Given the description of an element on the screen output the (x, y) to click on. 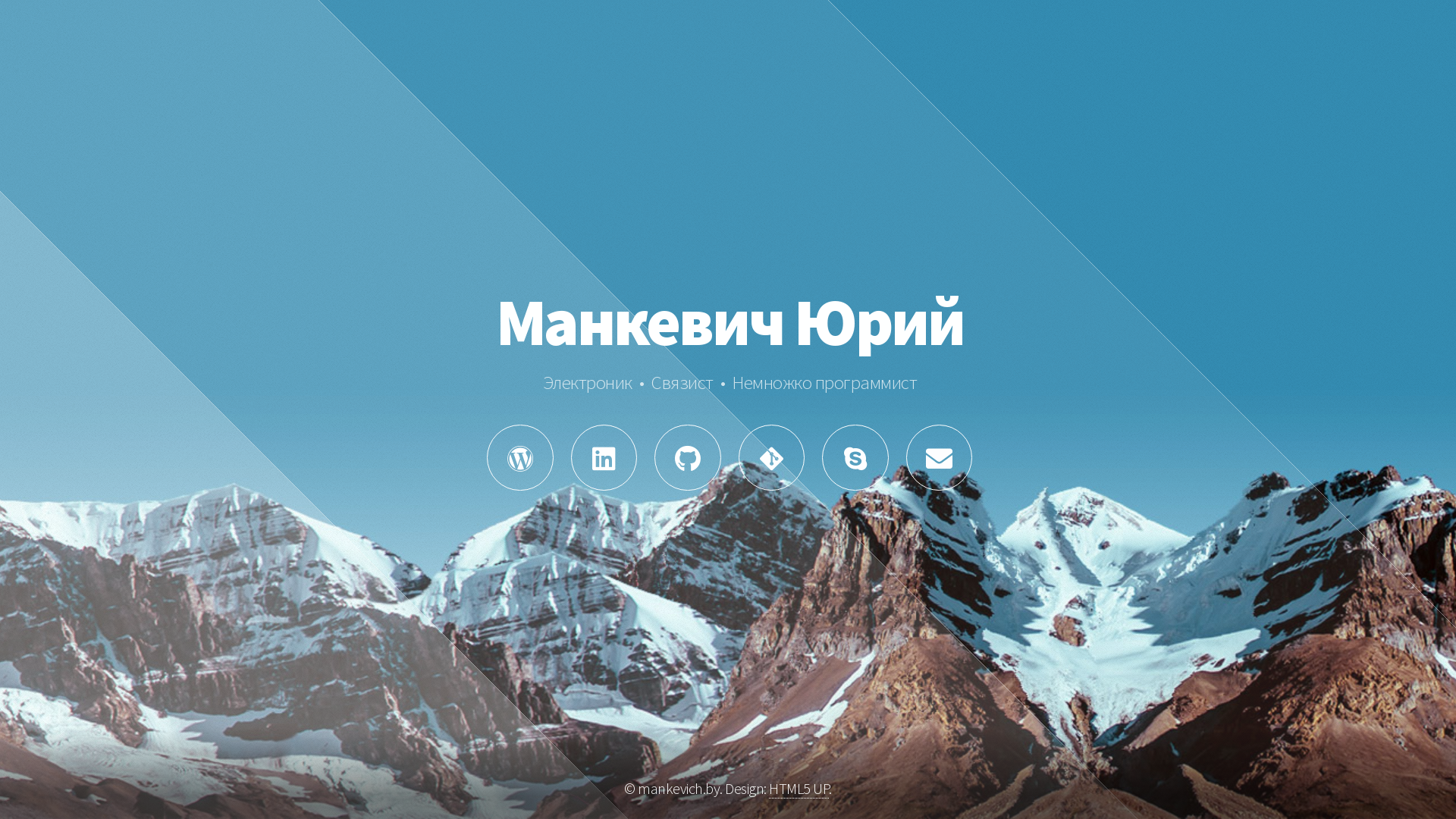
HTML5 UP Element type: text (798, 788)
